Given the description of an element on the screen output the (x, y) to click on. 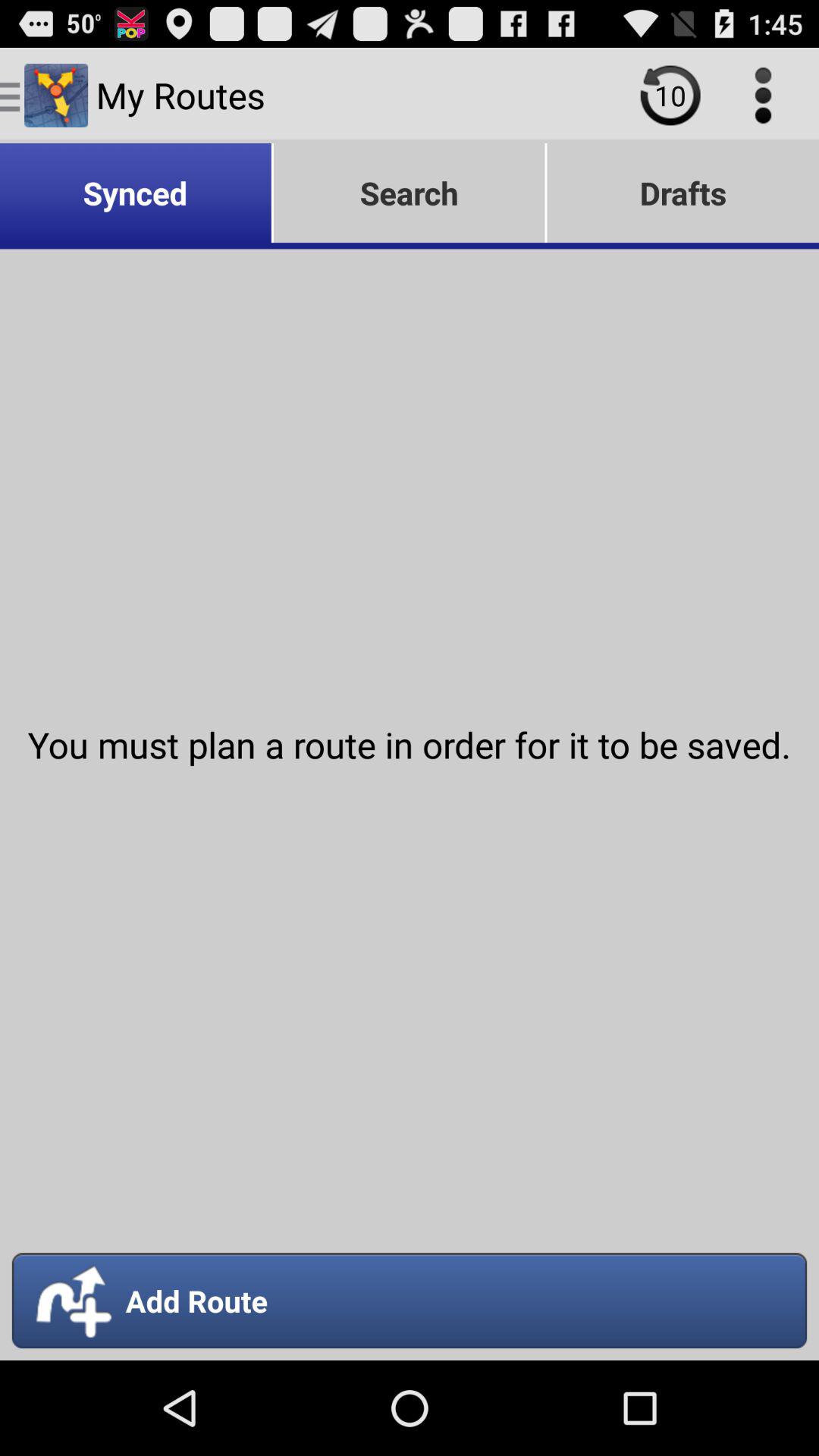
go back 10 (670, 95)
